Given the description of an element on the screen output the (x, y) to click on. 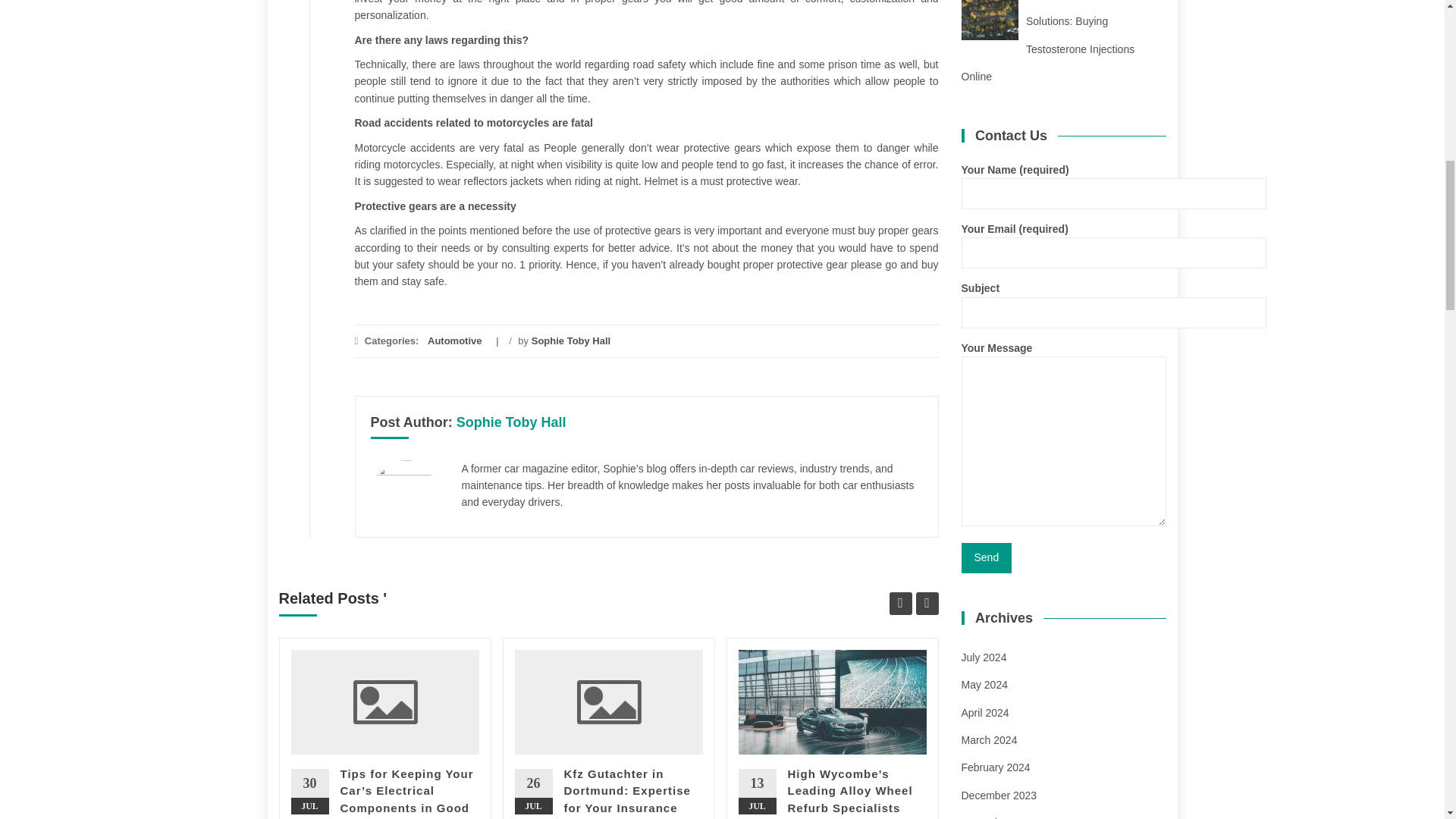
Send (985, 557)
Sophie Toby Hall (571, 340)
Sophie Toby Hall (511, 421)
Automotive (454, 340)
